Given the description of an element on the screen output the (x, y) to click on. 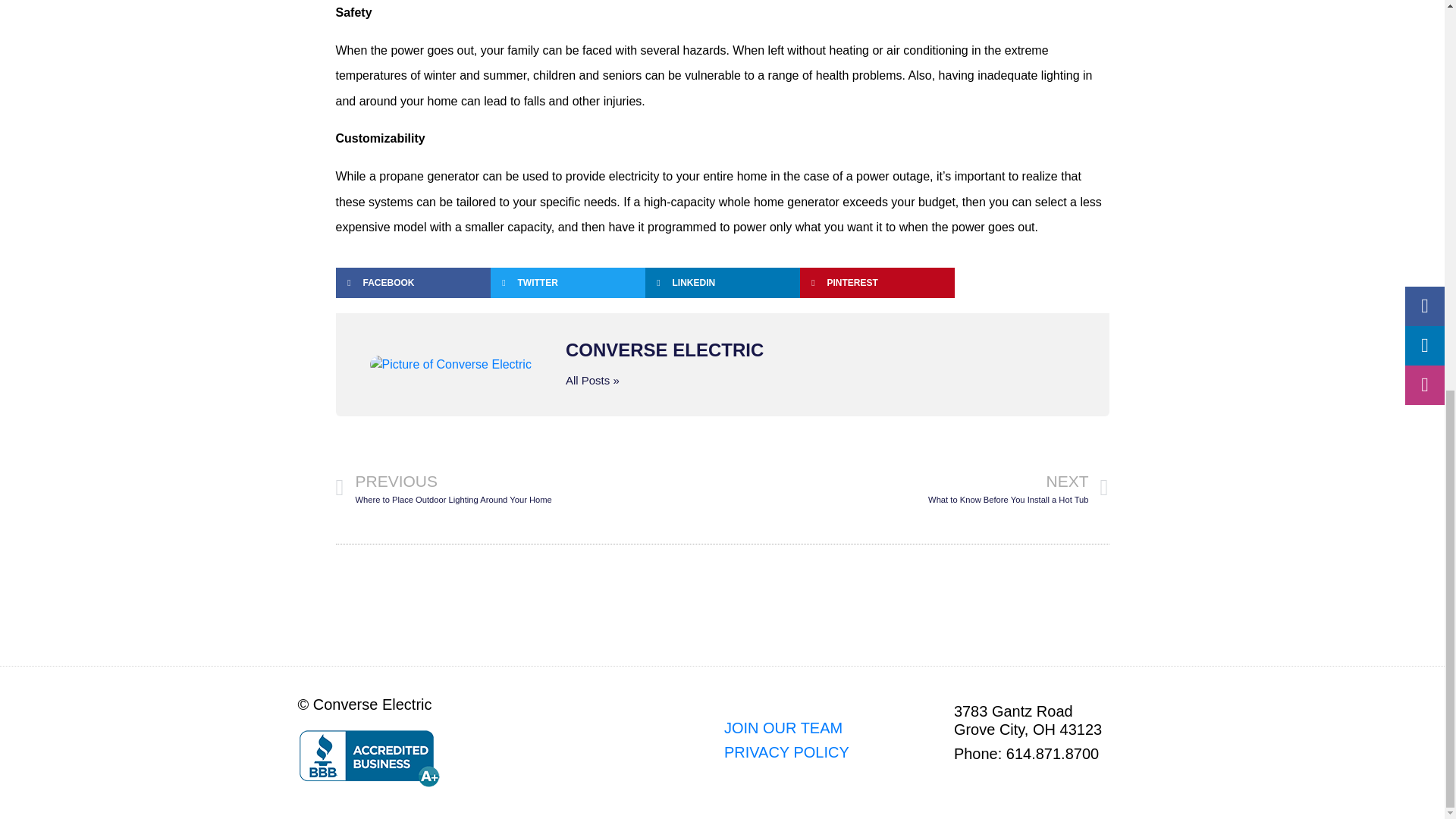
CONVERSE ELECTRIC (820, 350)
